Given the description of an element on the screen output the (x, y) to click on. 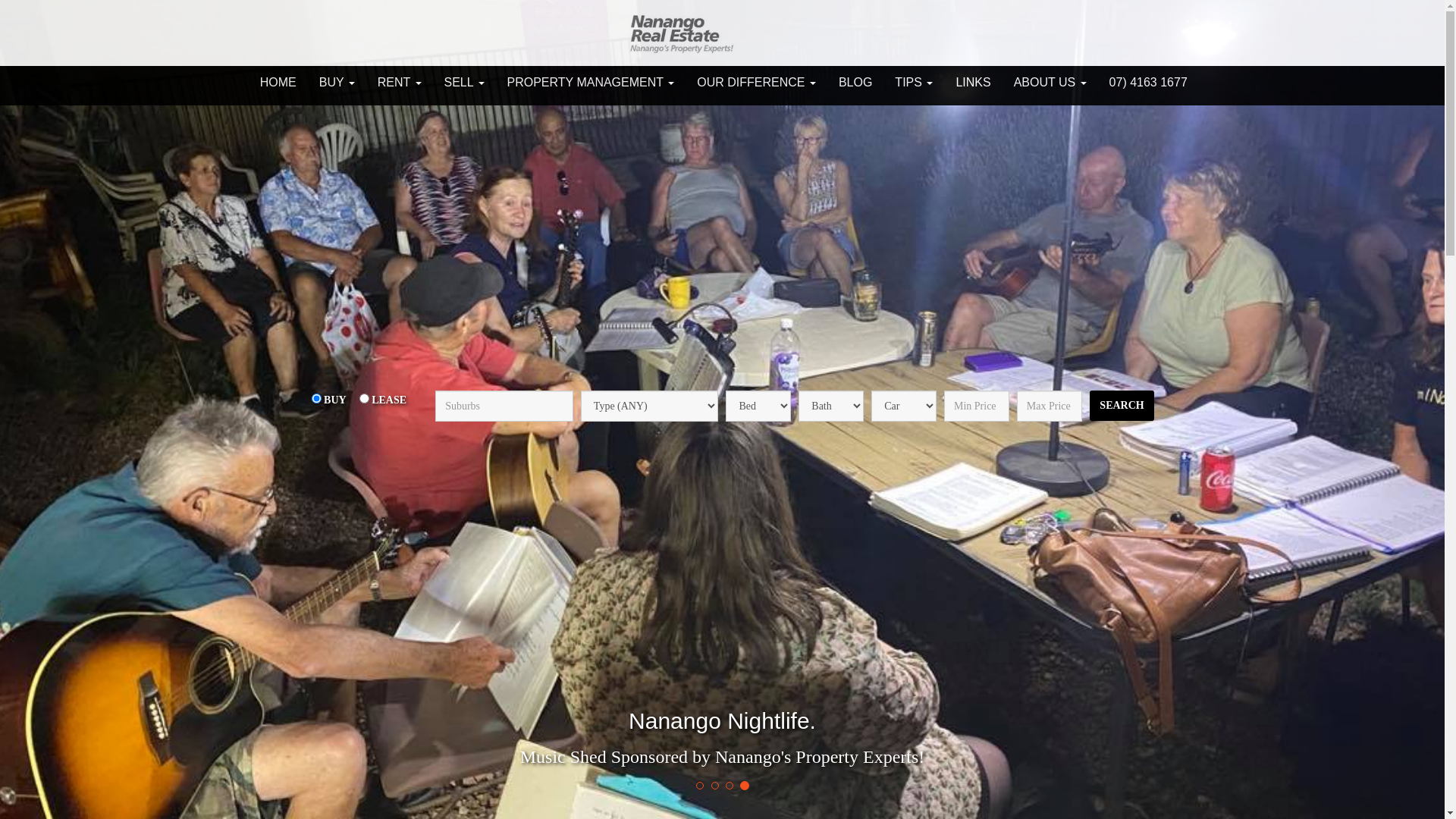
ABOUT US Element type: text (1050, 82)
RENT Element type: text (399, 82)
07) 4163 1677 Element type: text (1148, 82)
LINKS Element type: text (972, 82)
PROPERTY MANAGEMENT Element type: text (590, 82)
BLOG Element type: text (855, 82)
BUY Element type: text (336, 82)
TIPS Element type: text (913, 82)
HOME Element type: text (277, 82)
OUR DIFFERENCE Element type: text (756, 82)
SEARCH Element type: text (1121, 405)
SELL Element type: text (463, 82)
